Given the description of an element on the screen output the (x, y) to click on. 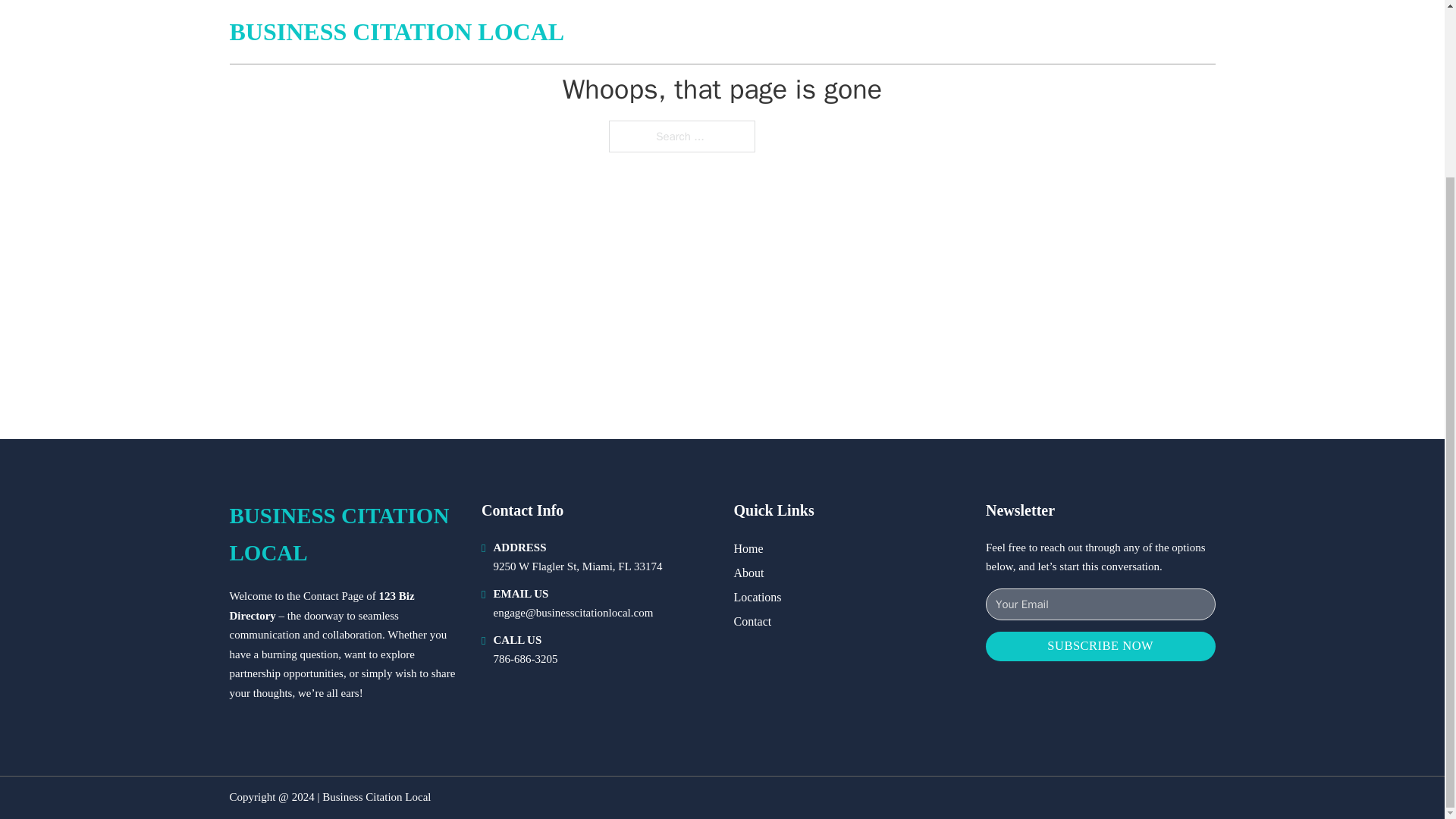
BUSINESS CITATION LOCAL (343, 534)
786-686-3205 (525, 658)
Contact (752, 620)
SUBSCRIBE NOW (1100, 645)
About (748, 572)
Locations (757, 597)
Home (747, 548)
